Given the description of an element on the screen output the (x, y) to click on. 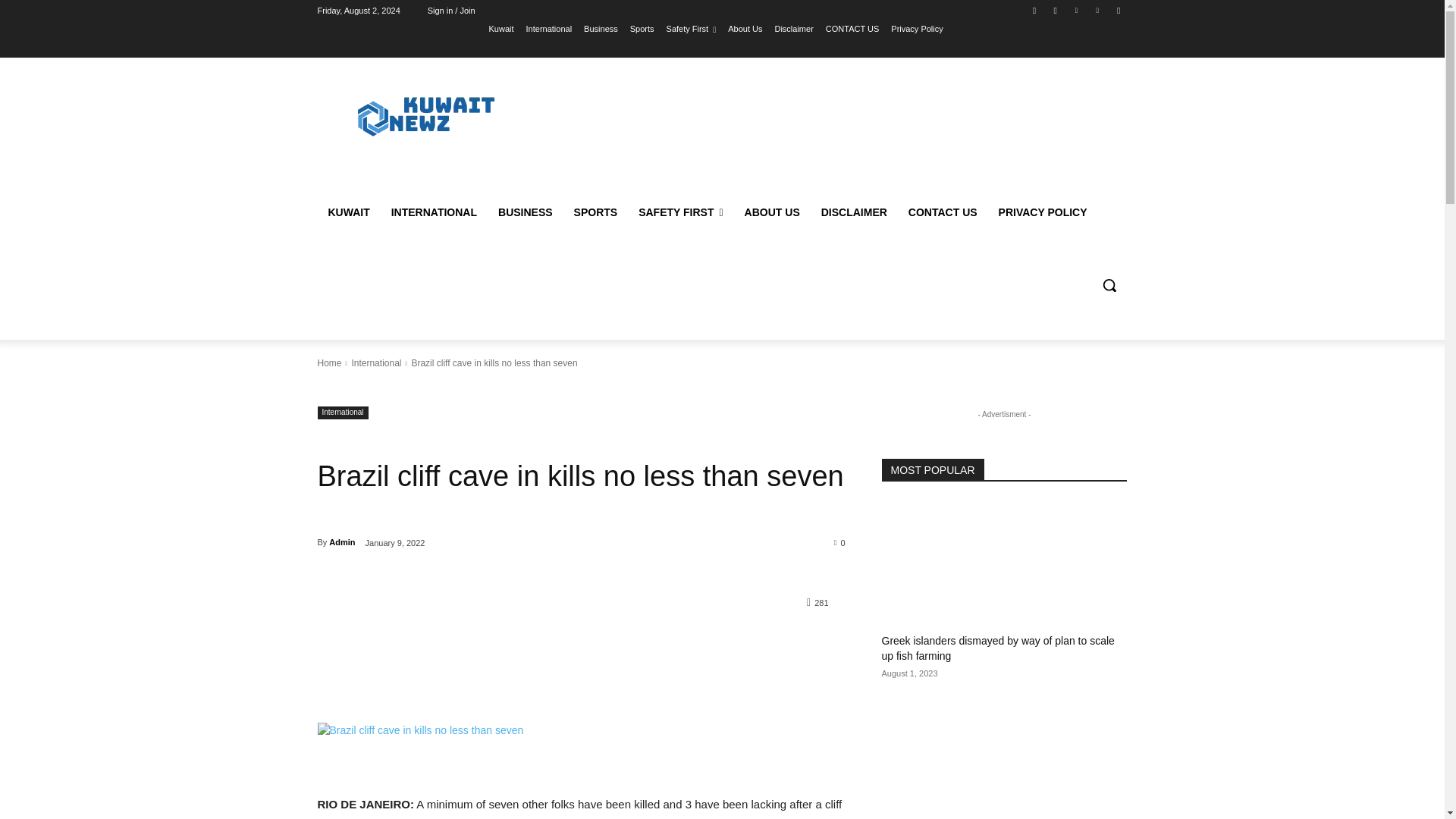
Twitter (1075, 9)
Sports (656, 28)
View all posts in International (375, 362)
Business (614, 28)
About Us (759, 28)
CONTACT US (866, 28)
International (563, 28)
Vimeo (1097, 9)
Kuwait (515, 28)
Youtube (1117, 9)
